Given the description of an element on the screen output the (x, y) to click on. 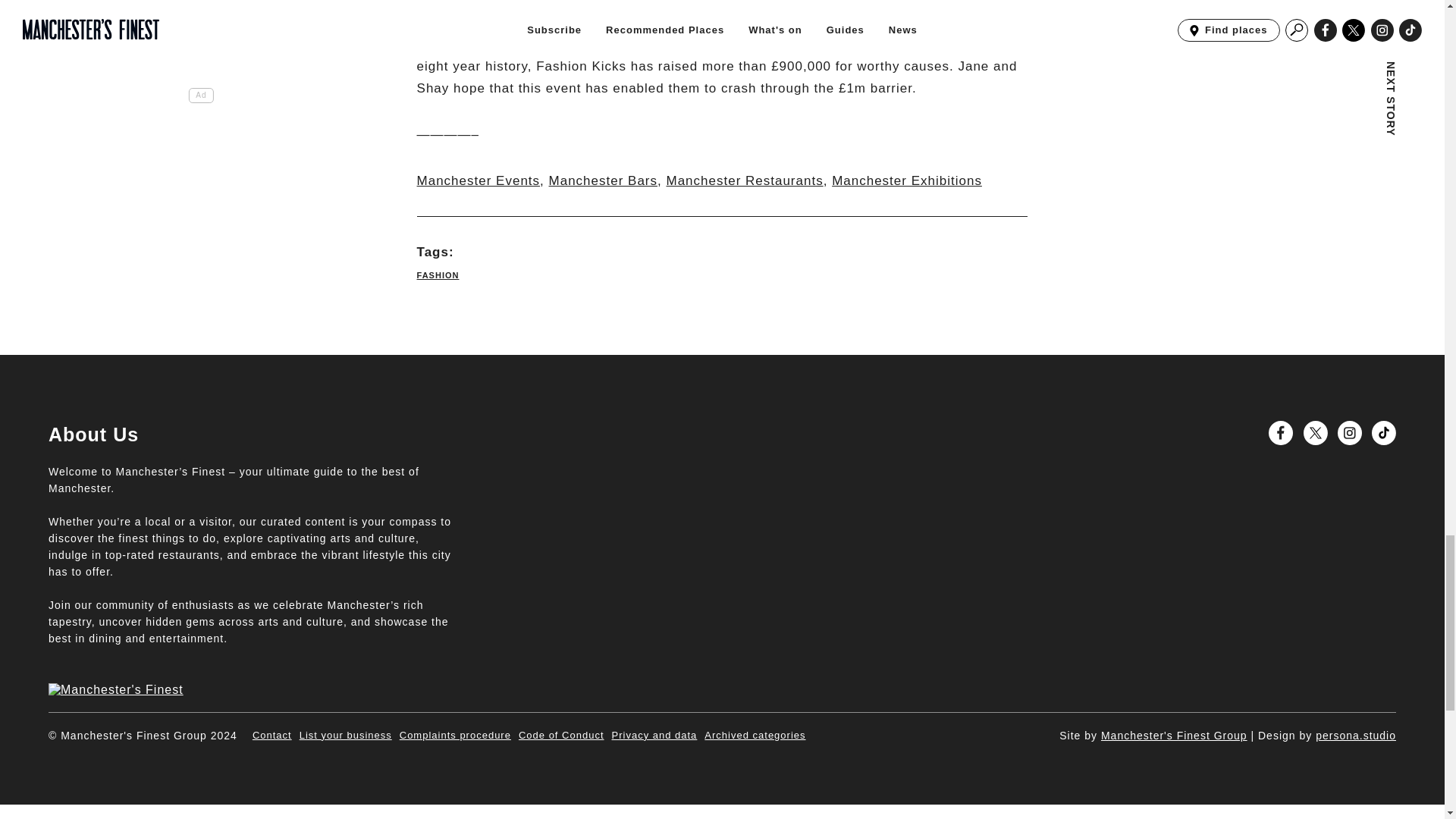
Manchester Restaurants (743, 179)
Manchester Exhibitions (906, 179)
Manchester Events (478, 179)
Go to Manchester's Finest TikTok profile (1383, 432)
Go to Manchester's Finest X profile (1315, 432)
Go to Manchester's Finest Facebook page (1280, 432)
Go to Manchester's Finest Instagram profile (1349, 432)
Manchester Bars (603, 179)
